Given the description of an element on the screen output the (x, y) to click on. 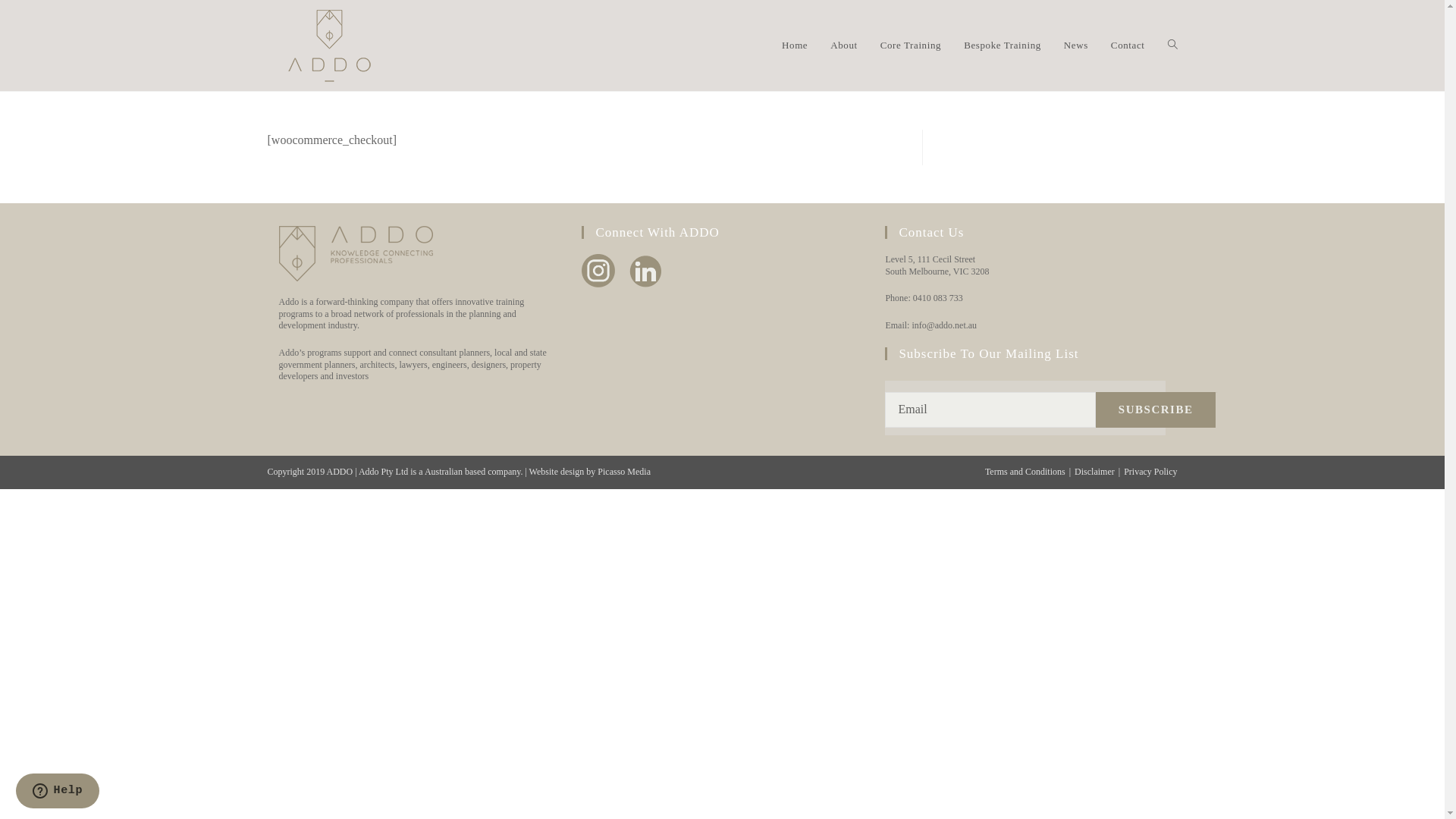
News Element type: text (1075, 45)
Contact Element type: text (1127, 45)
Core Training Element type: text (910, 45)
About Element type: text (844, 45)
SUBSCRIBE Element type: text (1155, 409)
Privacy Policy Element type: text (1149, 471)
Terms and Conditions Element type: text (1025, 471)
Home Element type: text (794, 45)
Opens a widget where you can chat to one of our agents Element type: hover (57, 792)
info@addo.net.au Element type: text (943, 325)
Picasso Media Element type: text (623, 471)
Disclaimer Element type: text (1094, 471)
Bespoke Training Element type: text (1002, 45)
